Given the description of an element on the screen output the (x, y) to click on. 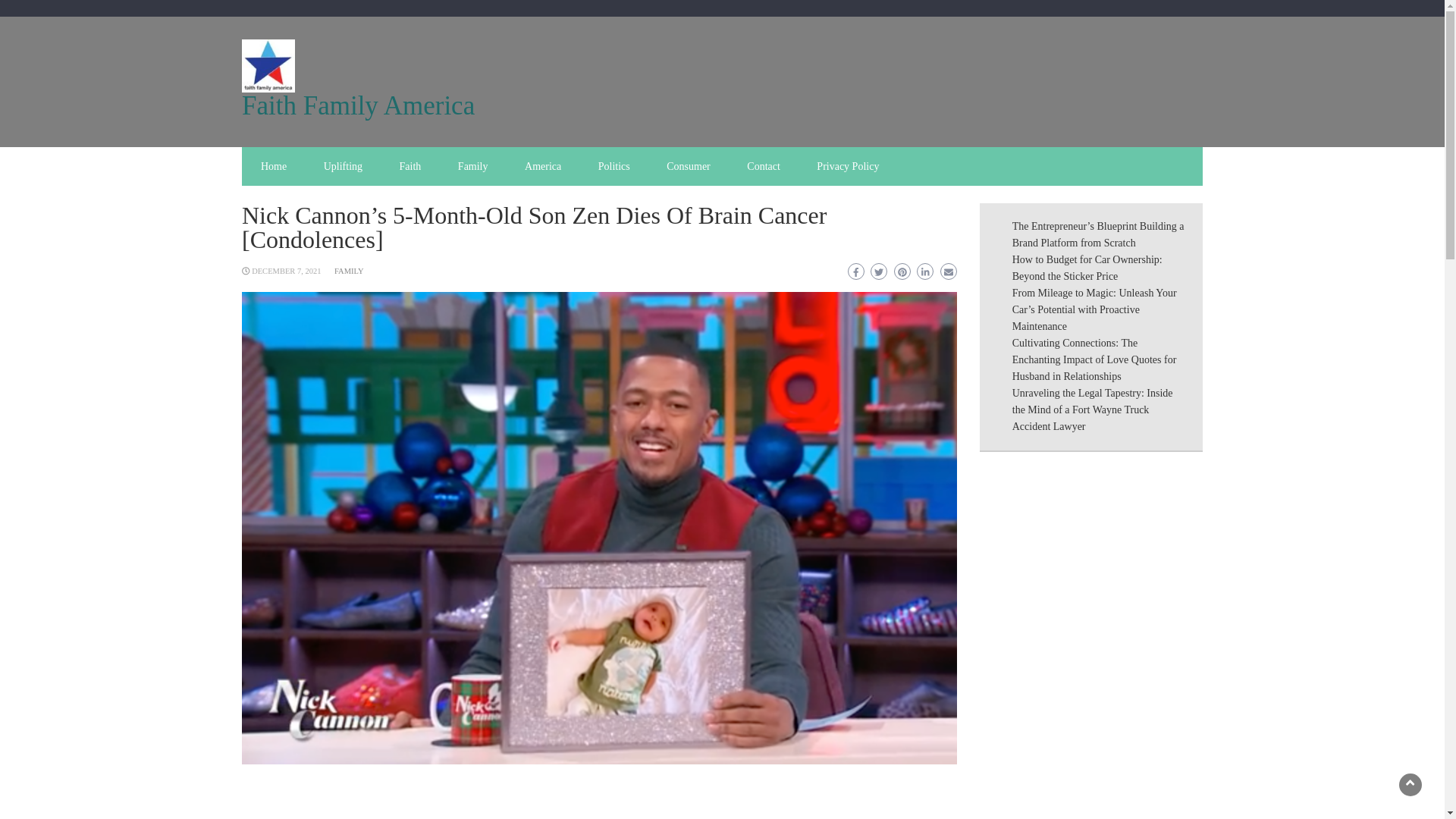
Uplifting (342, 166)
FAMILY (348, 270)
Family (472, 166)
Faith (410, 166)
Privacy Policy (847, 166)
Consumer (687, 166)
Home (273, 166)
How to Budget for Car Ownership: Beyond the Sticker Price (1086, 267)
